Given the description of an element on the screen output the (x, y) to click on. 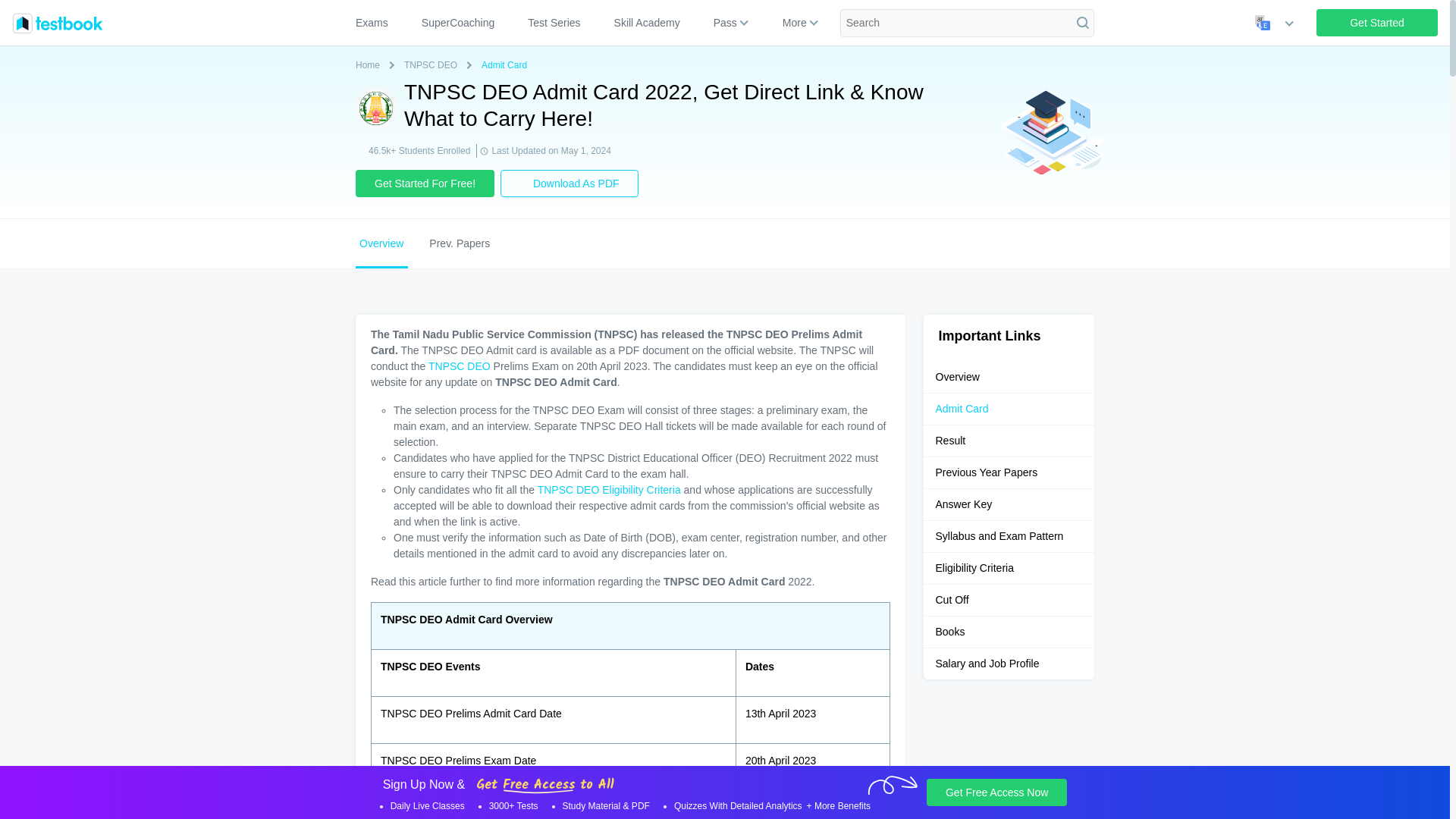
Pass (725, 22)
Exams (377, 22)
More (794, 22)
SuperCoaching (457, 22)
Test Series (553, 22)
Get Started (1377, 22)
Home (370, 65)
TNPSC DEO Eligibility Criteria (609, 490)
Download As PDF (569, 183)
TNPSC DEO (433, 65)
Skill Academy (647, 22)
TNPSC DEO (459, 366)
Sign Up (1377, 22)
